Given the description of an element on the screen output the (x, y) to click on. 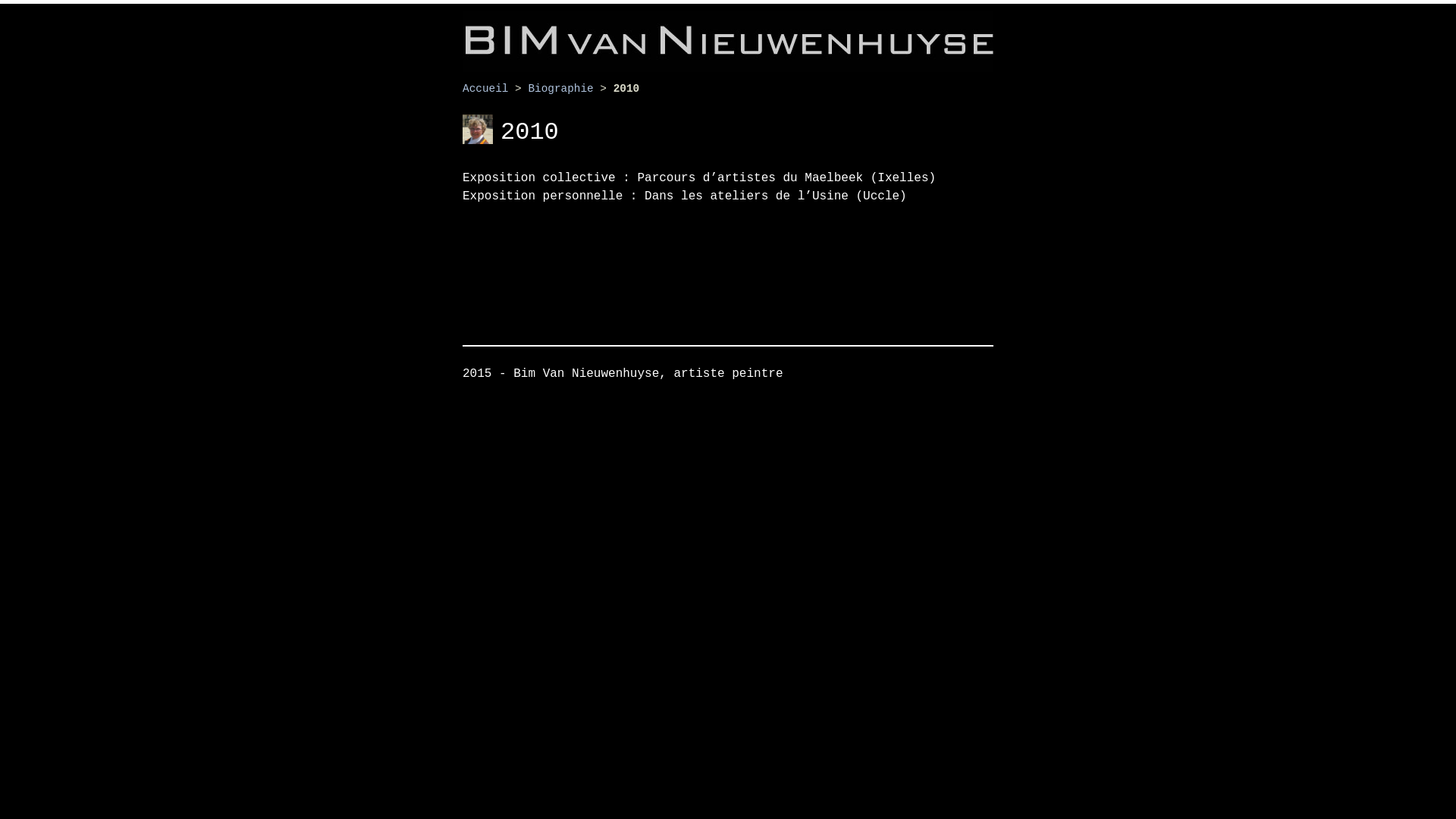
Biographie Element type: text (560, 88)
Accueil Element type: text (485, 88)
